Given the description of an element on the screen output the (x, y) to click on. 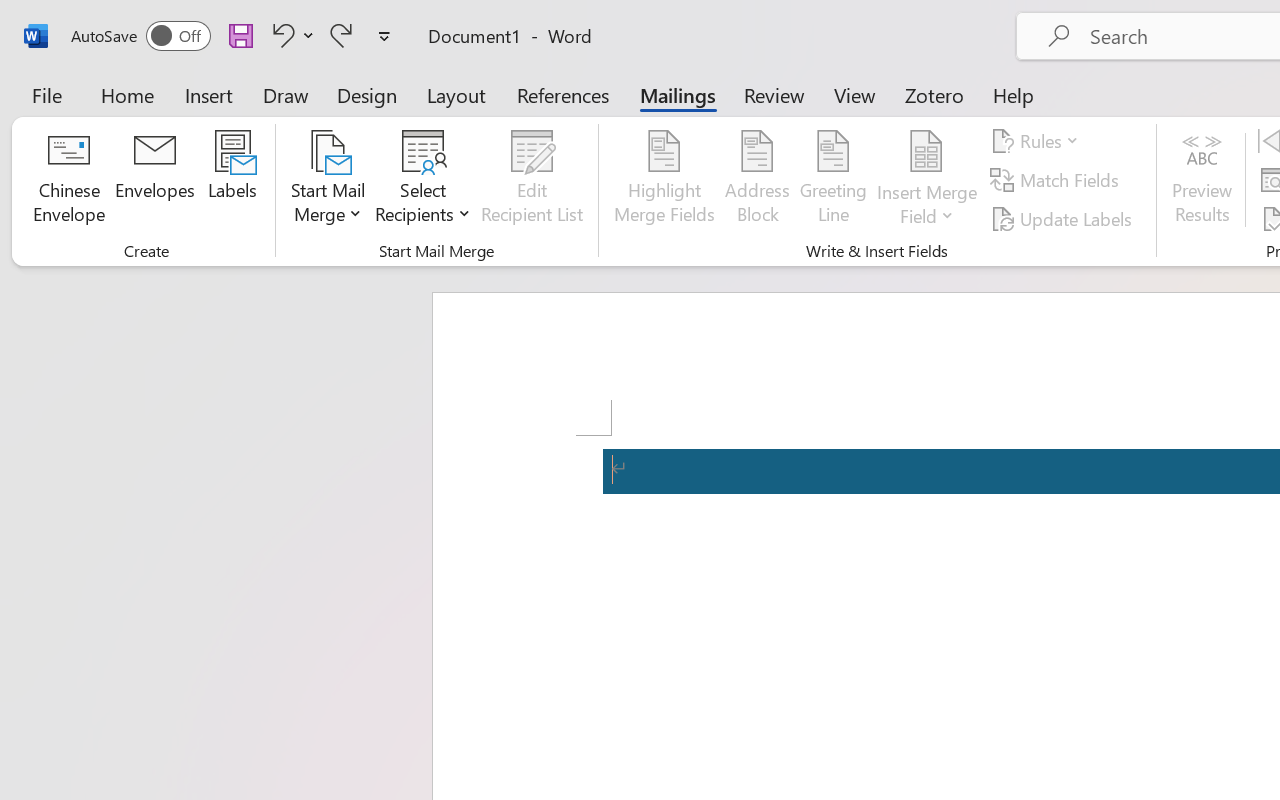
Preview Results (1202, 179)
Labels... (232, 179)
Insert Merge Field (927, 179)
Match Fields... (1057, 179)
Address Block... (757, 179)
